Given the description of an element on the screen output the (x, y) to click on. 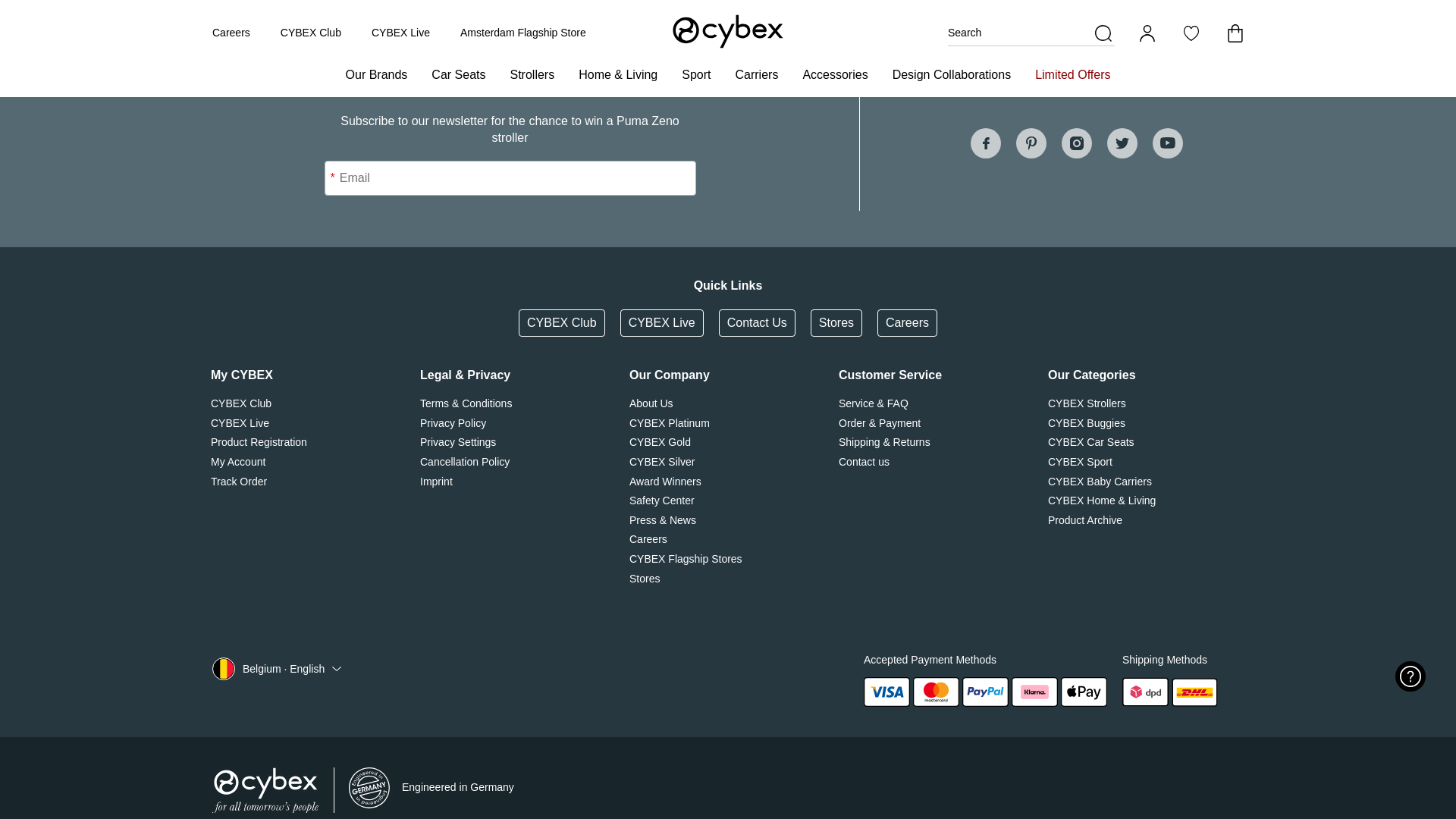
CYBEX for all tomorrow's people (265, 790)
